Given the description of an element on the screen output the (x, y) to click on. 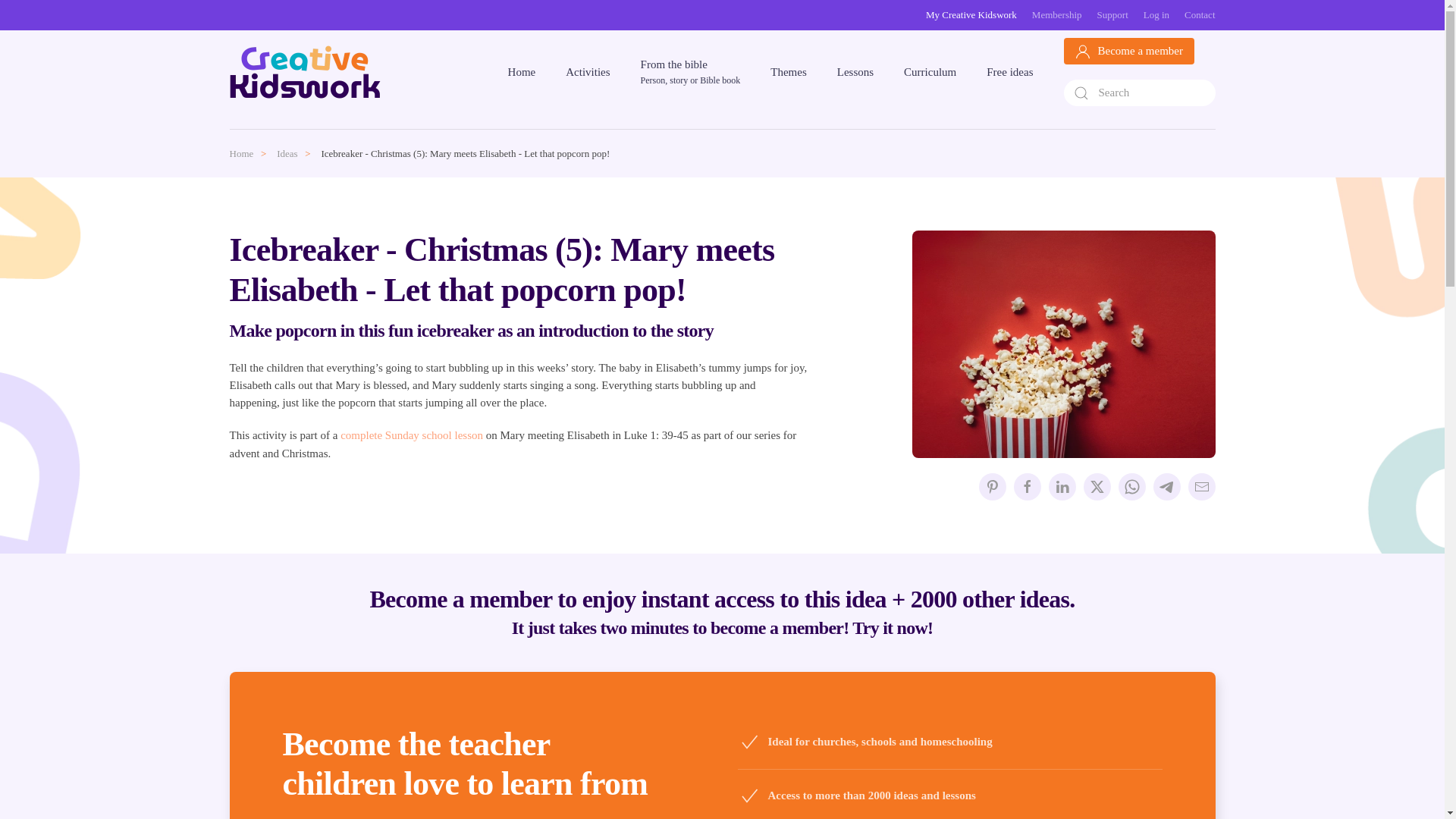
Support (1112, 14)
Contact (1199, 14)
Deel op Facebook (1027, 486)
Log in (1155, 14)
Deel via Whatsapp (1131, 486)
Pin dit item (992, 486)
Membership (1056, 14)
My Creative Kidswork (971, 14)
